Given the description of an element on the screen output the (x, y) to click on. 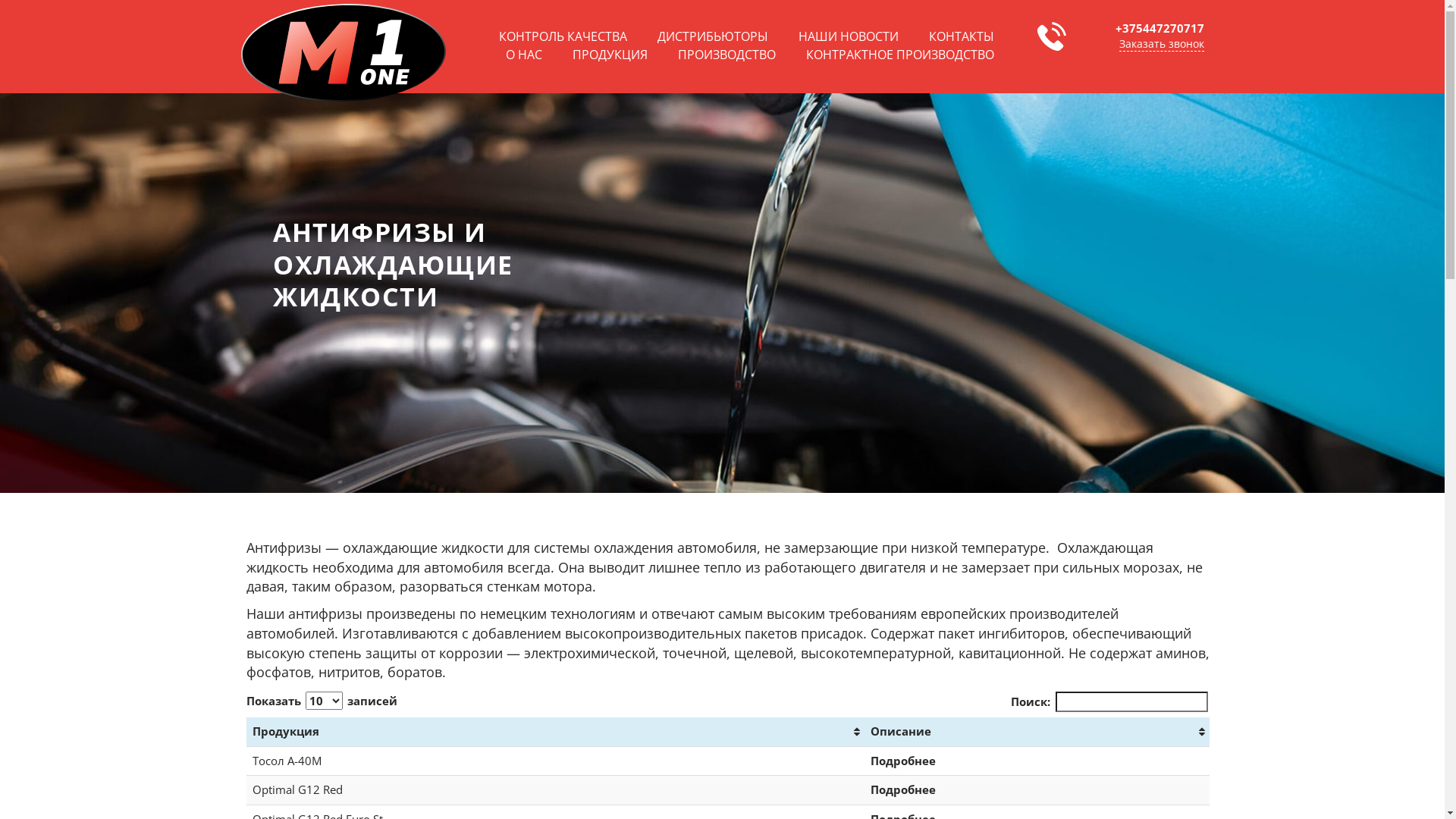
+375447270717 Element type: text (1158, 27)
